Given the description of an element on the screen output the (x, y) to click on. 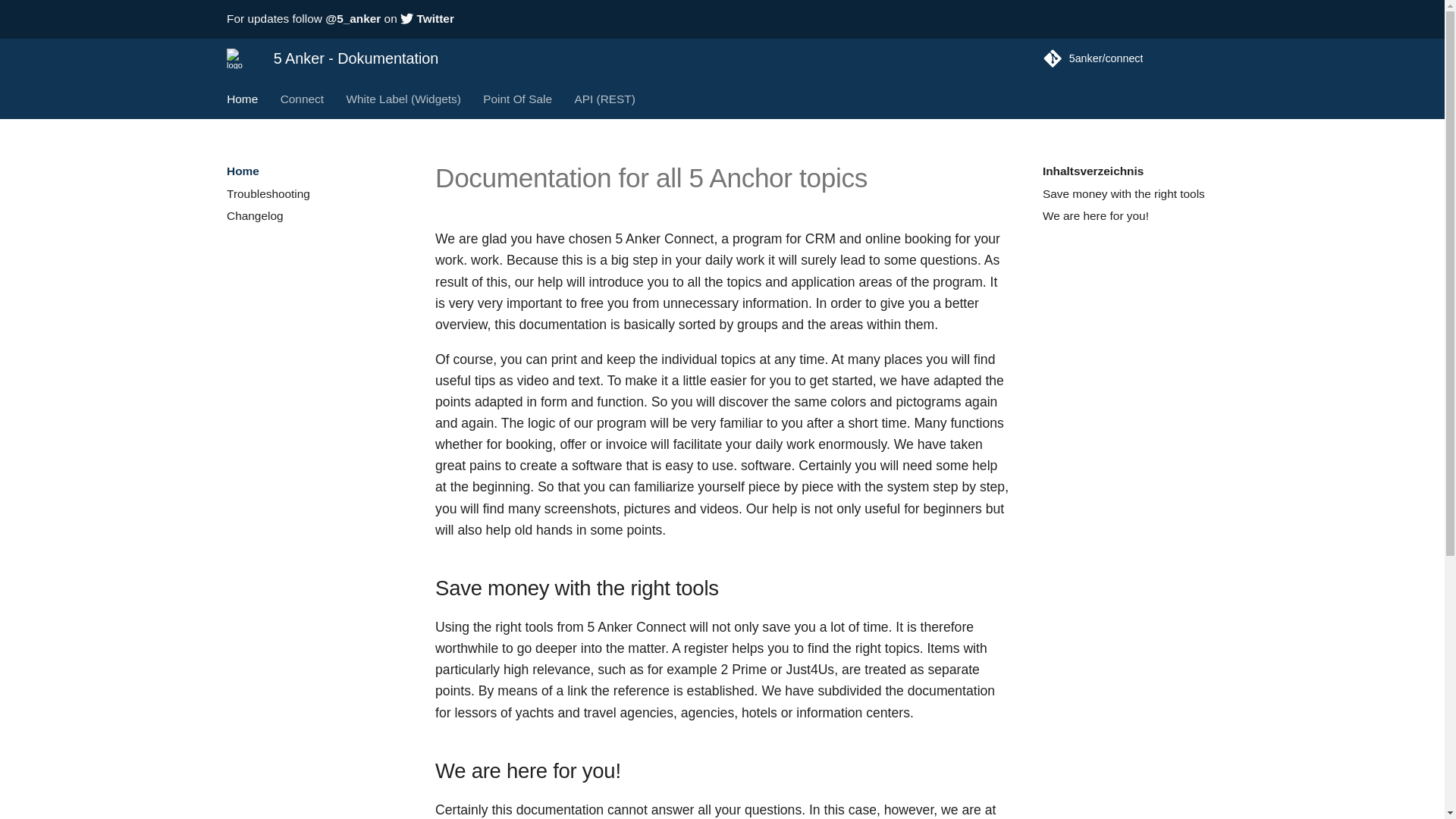
Connect (302, 98)
Troubleshooting (314, 193)
Home (242, 98)
Changelog (314, 215)
Quellcode (1129, 58)
5 Anker - Dokumentation (236, 58)
Home (314, 193)
Point Of Sale (314, 171)
